Given the description of an element on the screen output the (x, y) to click on. 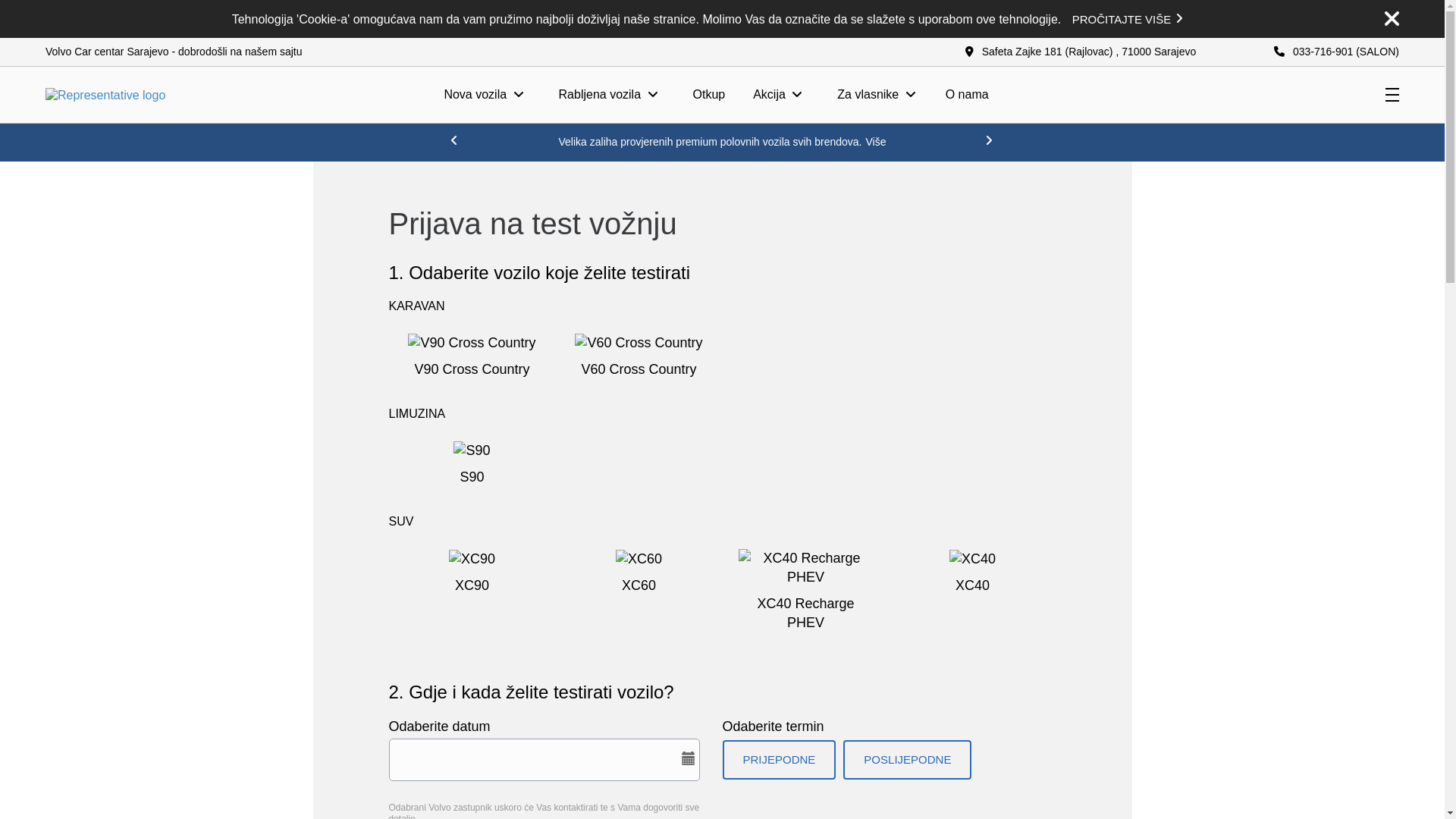
O nama Element type: text (966, 94)
POSLIJEPODNE Element type: text (907, 759)
033-716-901 (SALON) Element type: text (1336, 51)
PRIJEPODNE Element type: text (778, 759)
Otkup Element type: text (709, 94)
Safeta Zajke 181 (Rajlovac) , 71000 Sarajevo Element type: text (1080, 51)
